Given the description of an element on the screen output the (x, y) to click on. 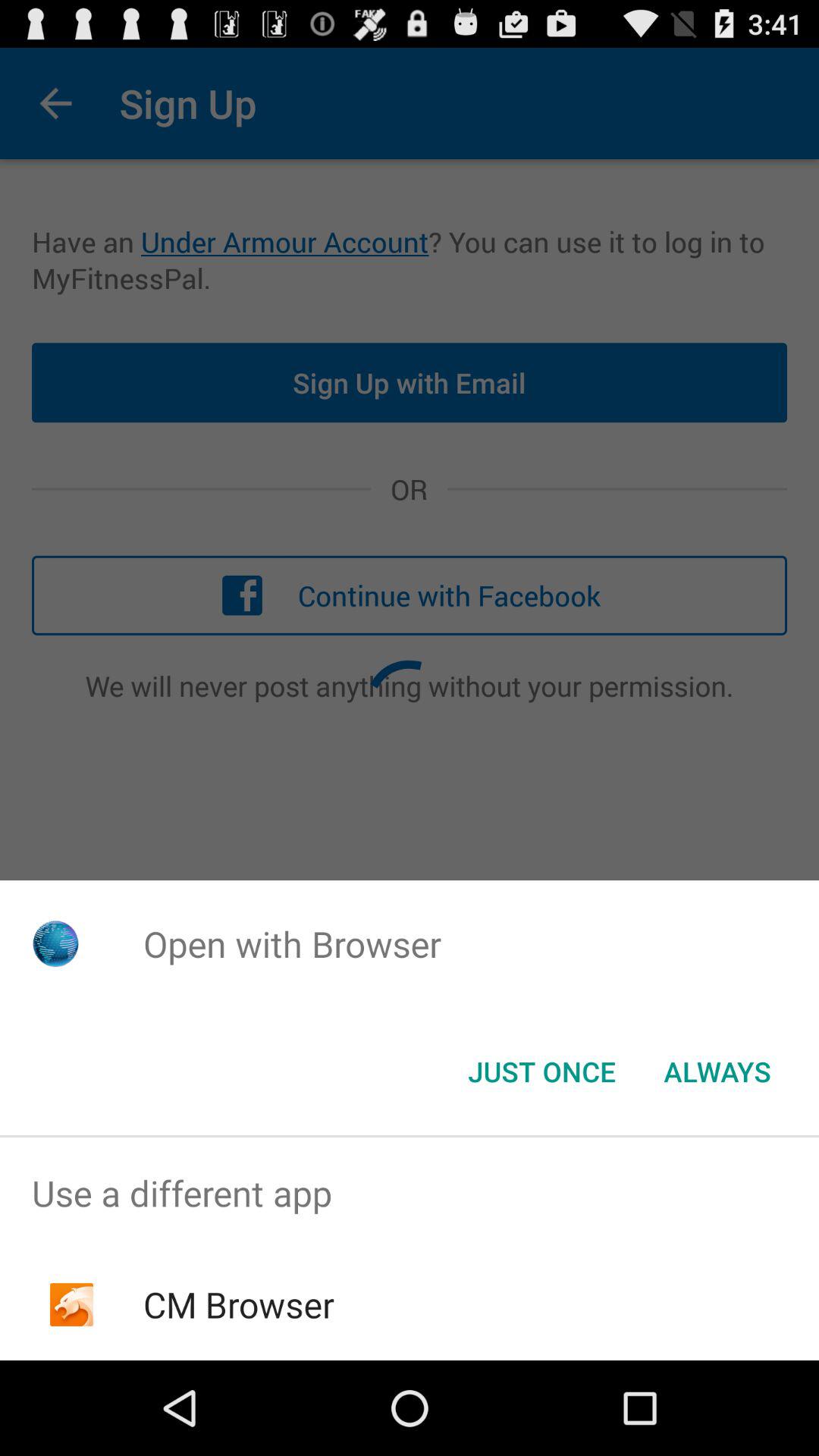
swipe to the cm browser (238, 1304)
